Given the description of an element on the screen output the (x, y) to click on. 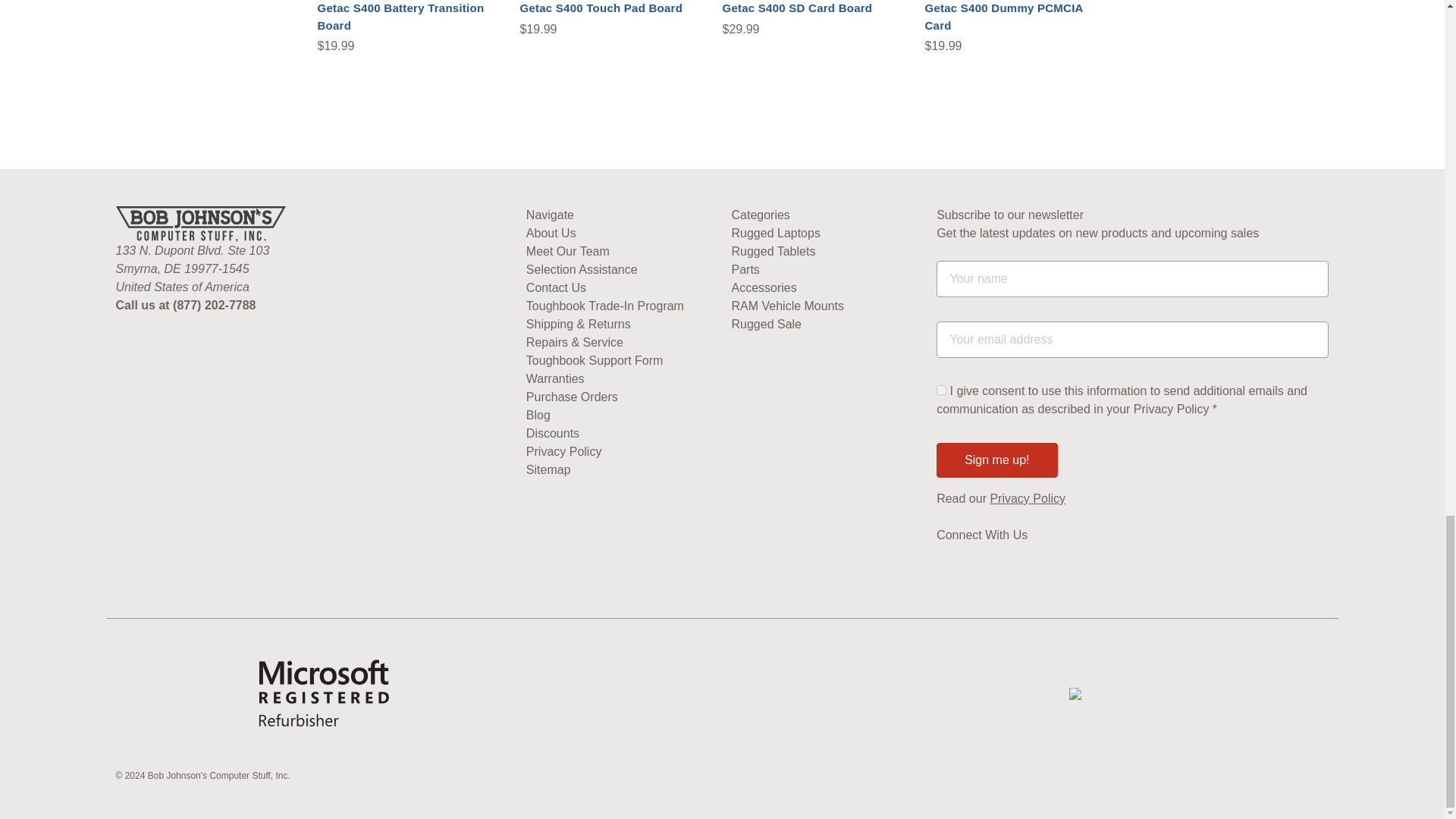
Bob Johnson's Computer Stuff, Inc. (200, 223)
4842 (941, 389)
Instagram (1030, 562)
Youtube (944, 562)
Facebook (973, 562)
Linkedin (1000, 562)
